Given the description of an element on the screen output the (x, y) to click on. 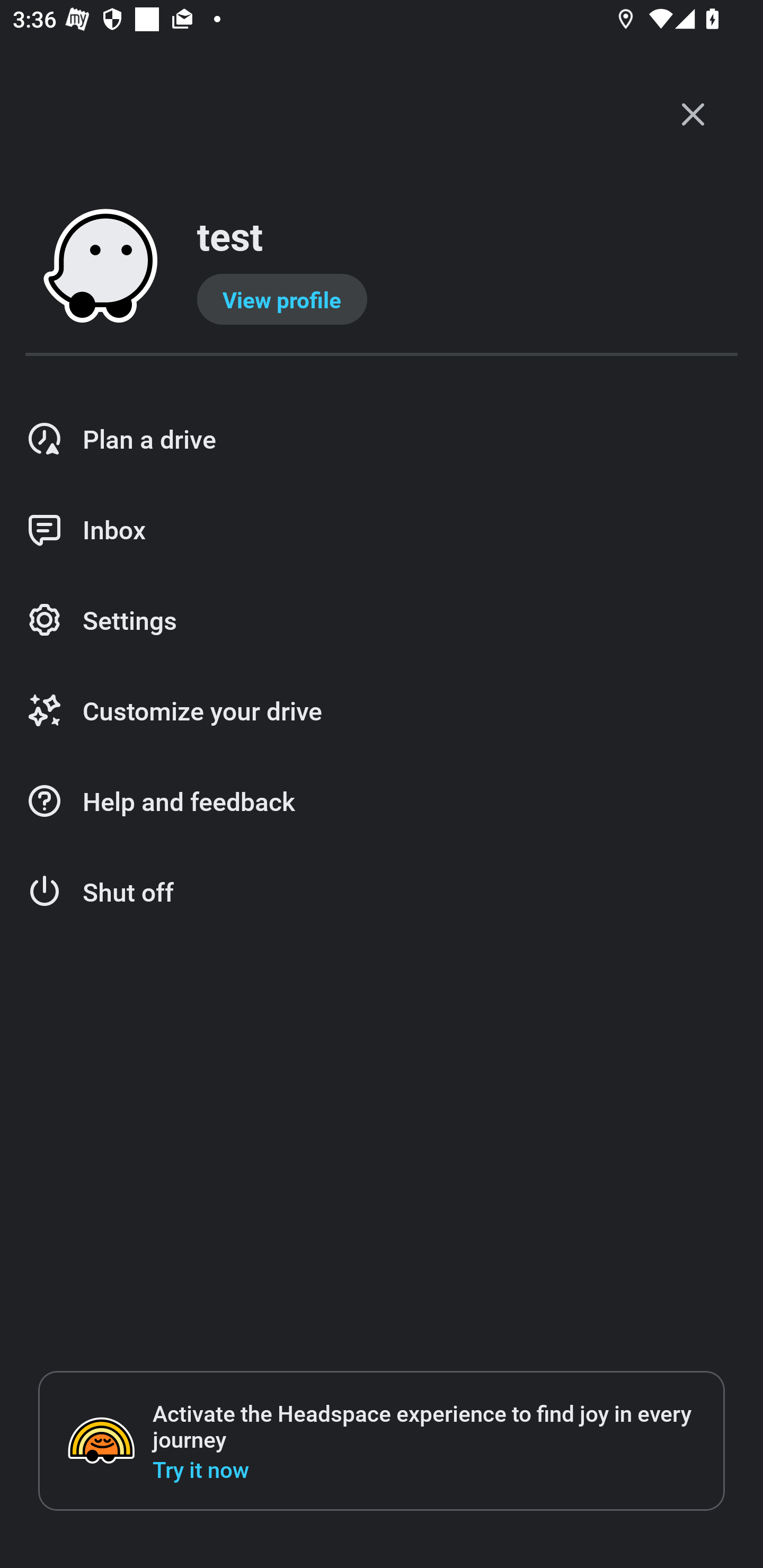
test View profile (381, 266)
View profile (281, 299)
ACTION_CELL_ICON Plan a drive ACTION_CELL_TEXT (381, 438)
ACTION_CELL_ICON Inbox ACTION_CELL_TEXT (381, 529)
ACTION_CELL_ICON Settings ACTION_CELL_TEXT (381, 620)
ACTION_CELL_ICON Shut off ACTION_CELL_TEXT (381, 891)
